Given the description of an element on the screen output the (x, y) to click on. 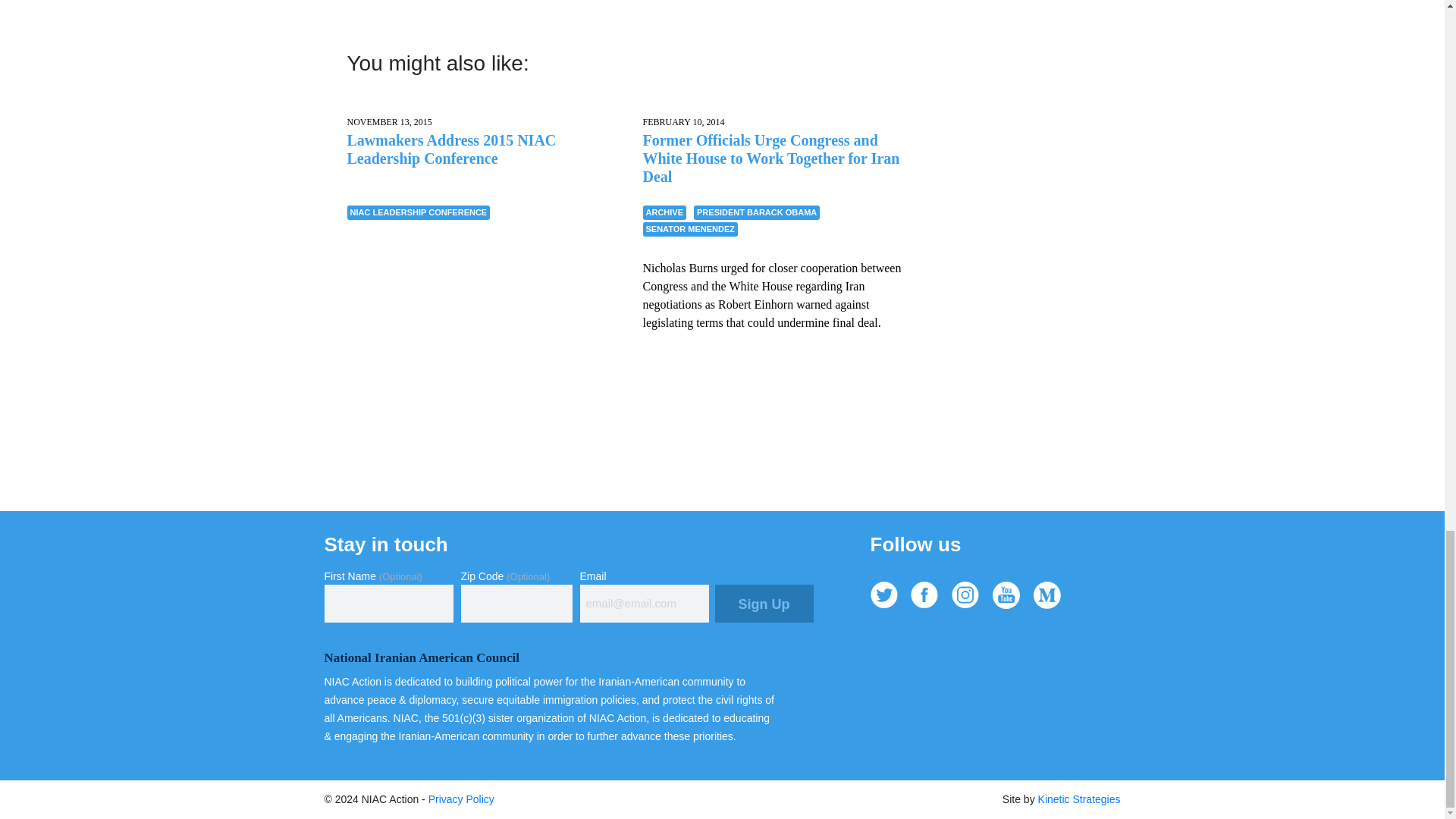
Sign Up (763, 603)
Zip Code (516, 603)
First Name (388, 603)
